Given the description of an element on the screen output the (x, y) to click on. 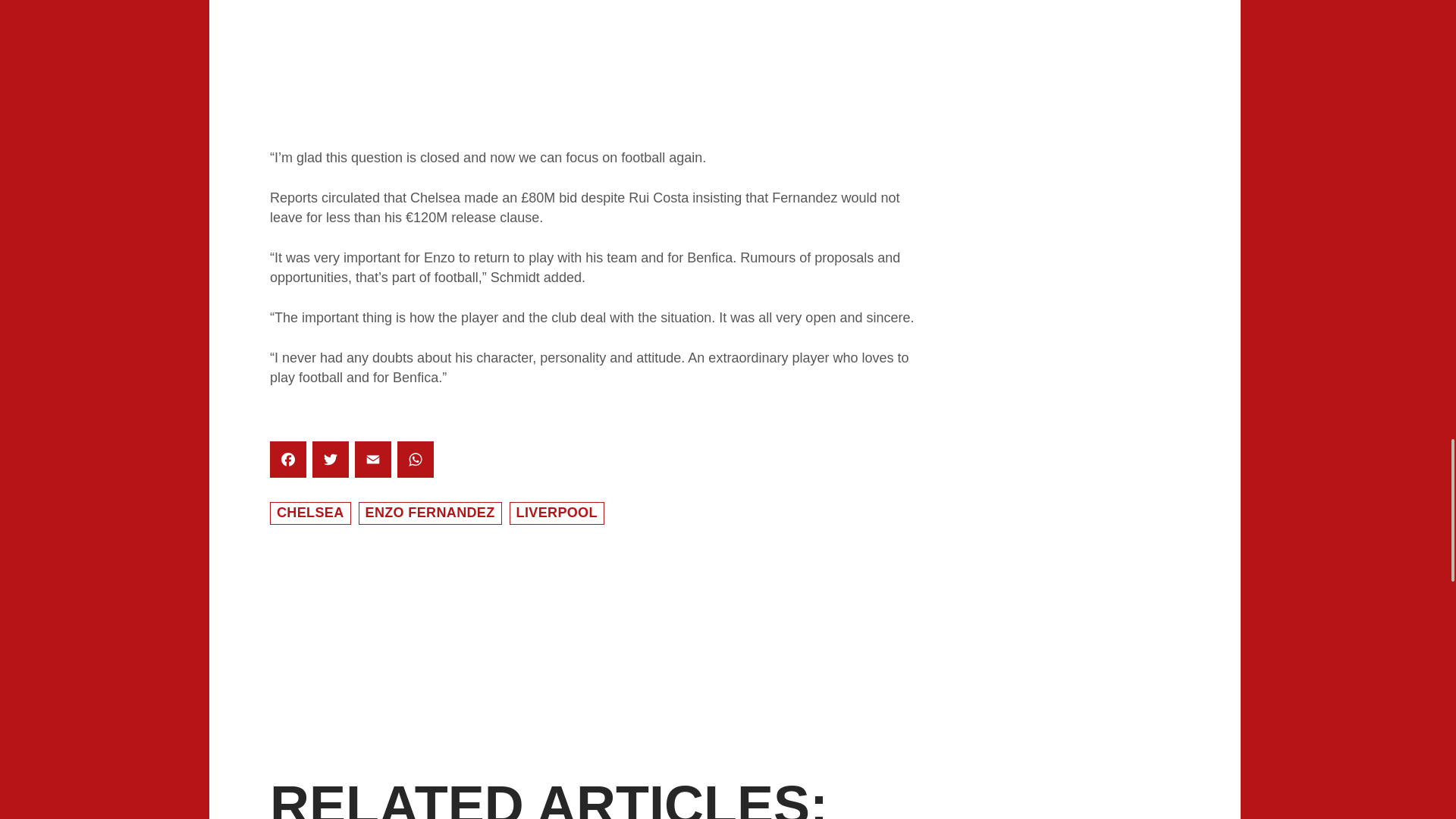
WhatsApp (415, 459)
CHELSEA (309, 513)
ENZO FERNANDEZ (430, 513)
Facebook (287, 459)
Twitter (331, 459)
Twitter (331, 459)
Email (373, 459)
LIVERPOOL (556, 513)
Facebook (287, 459)
Email (373, 459)
